Given the description of an element on the screen output the (x, y) to click on. 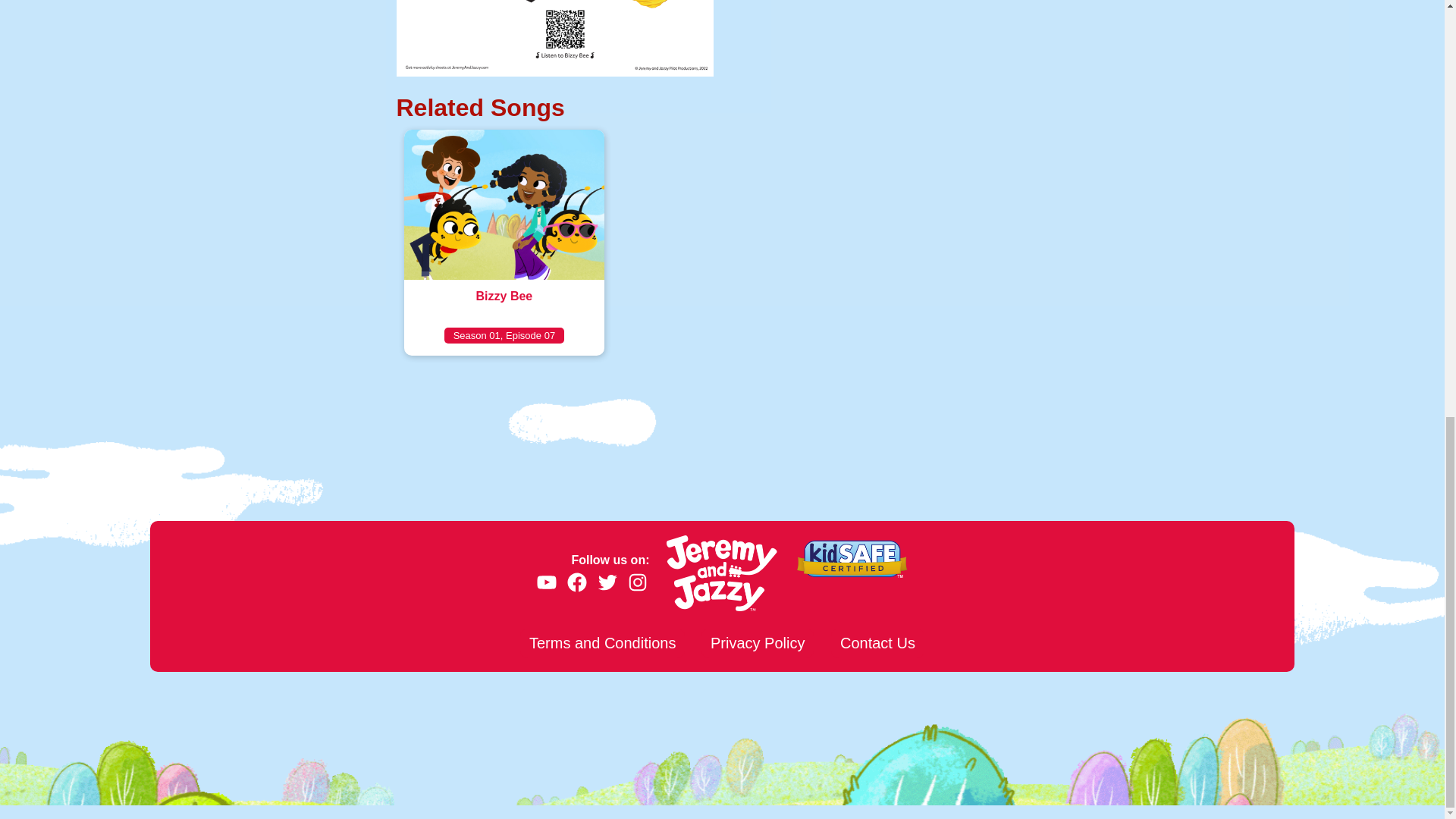
Instagram (637, 581)
Contact Us (877, 643)
Facebook (577, 581)
Terms and Conditions (601, 643)
Privacy Policy (503, 242)
YouTube (757, 643)
Twitter (546, 581)
